Given the description of an element on the screen output the (x, y) to click on. 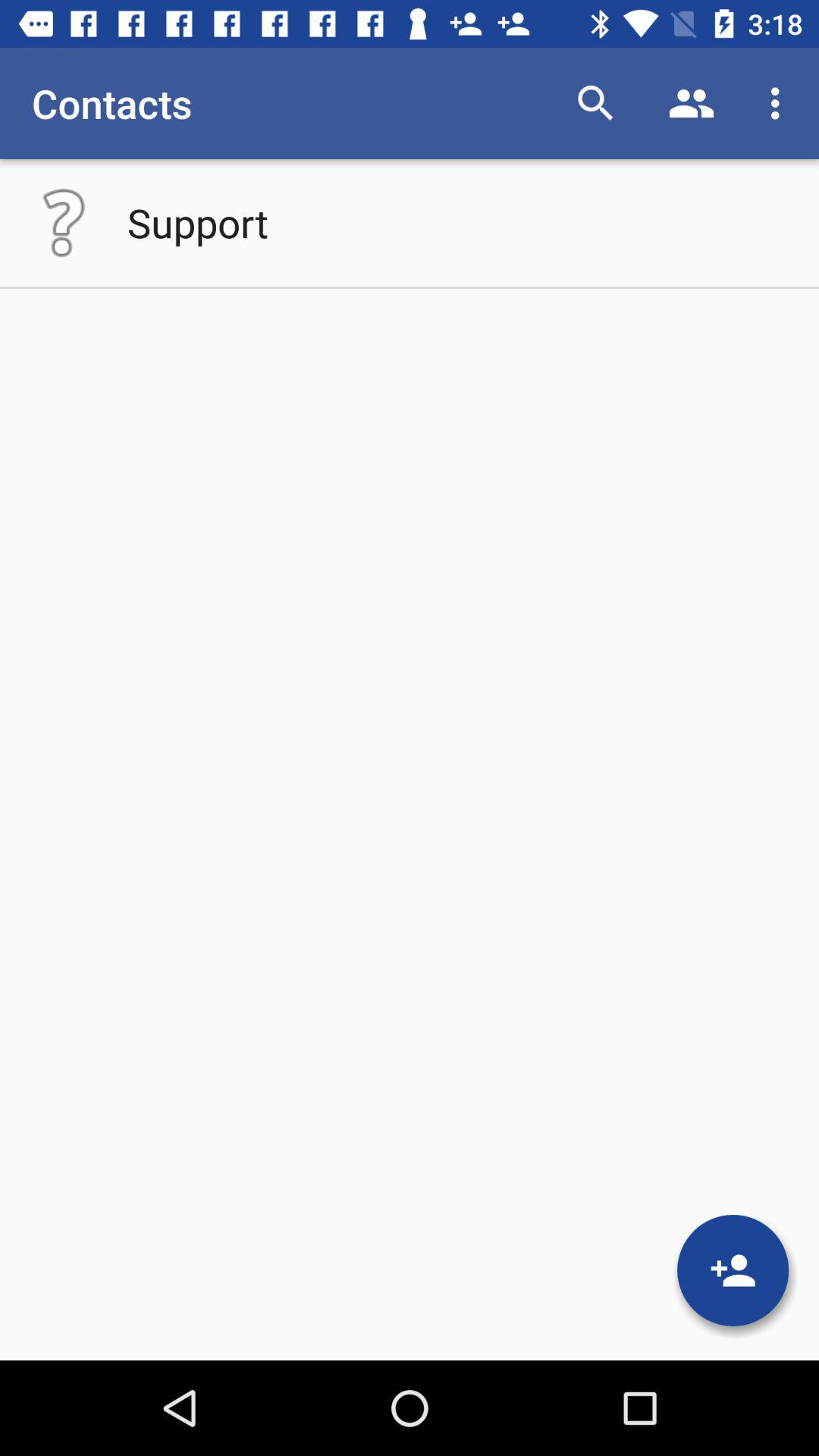
open help menu (63, 222)
